Given the description of an element on the screen output the (x, y) to click on. 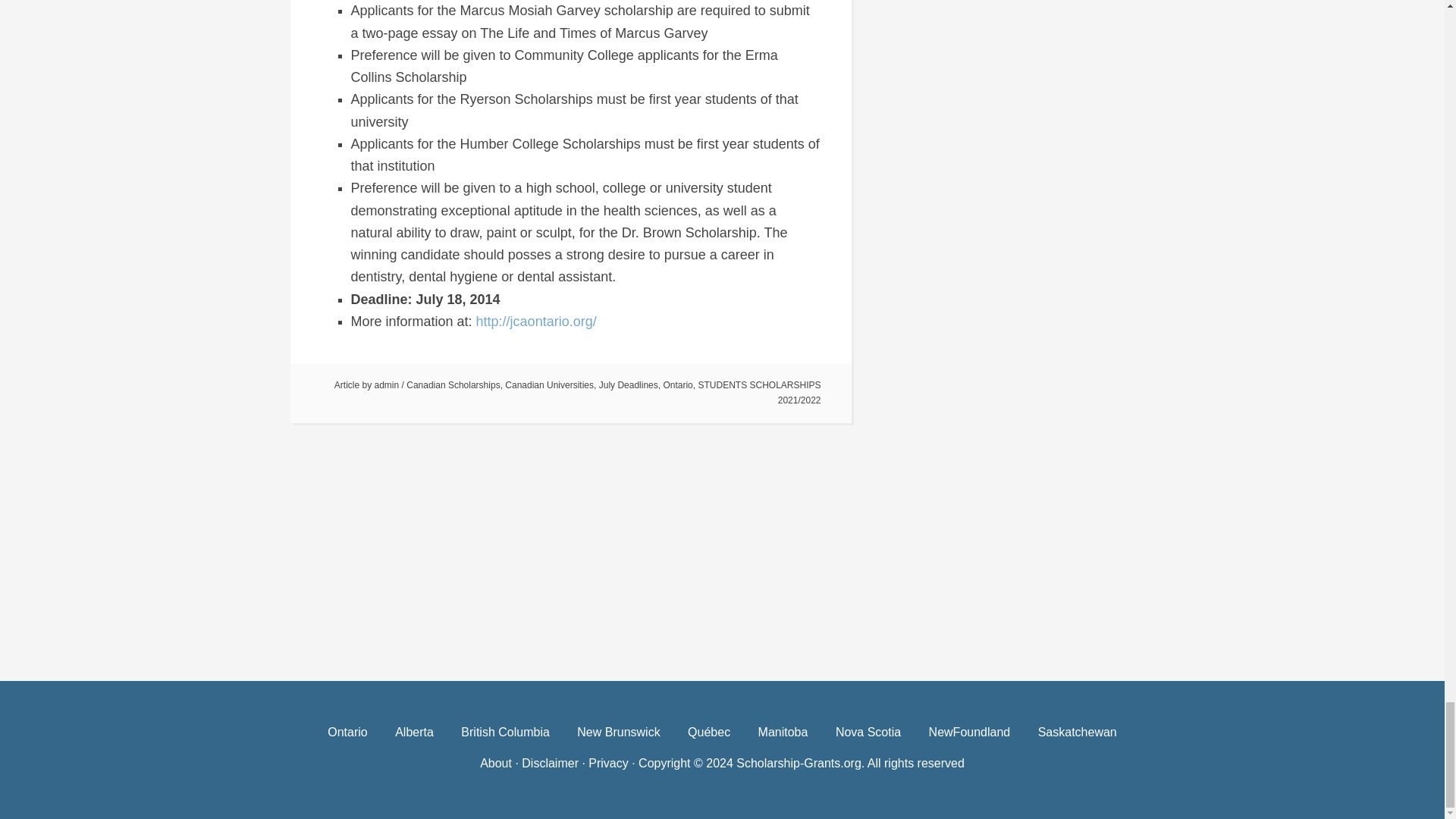
Canadian Universities (549, 385)
Canadian Scholarships (452, 385)
admin (386, 385)
